Given the description of an element on the screen output the (x, y) to click on. 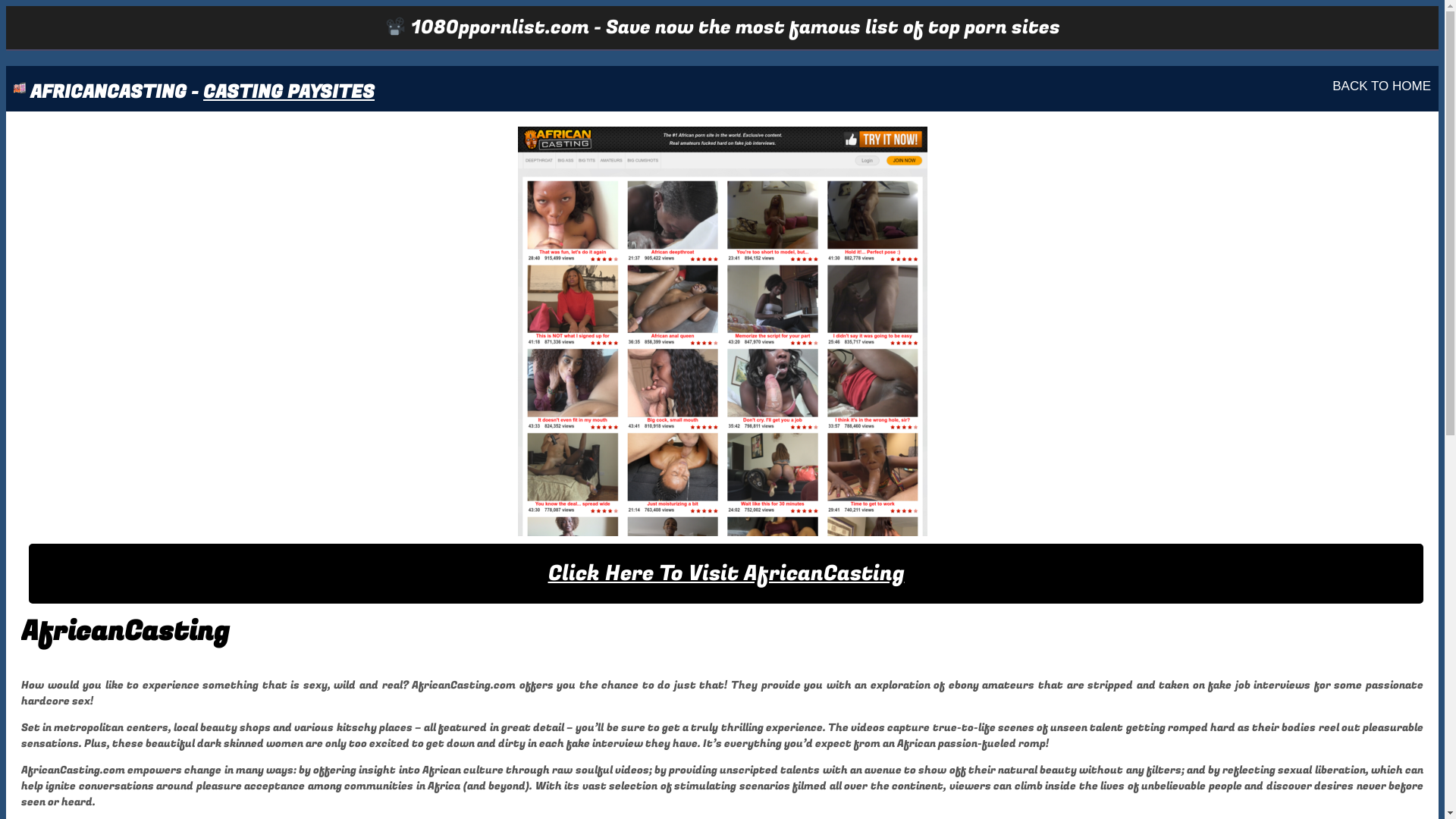
BACK TO HOME Element type: text (1381, 85)
AfricanCasting Element type: hover (721, 331)
CASTING PAYSITES Element type: text (288, 91)
AfricanCasting Element type: hover (721, 331)
Click Here To Visit AfricanCasting Element type: text (725, 573)
